Given the description of an element on the screen output the (x, y) to click on. 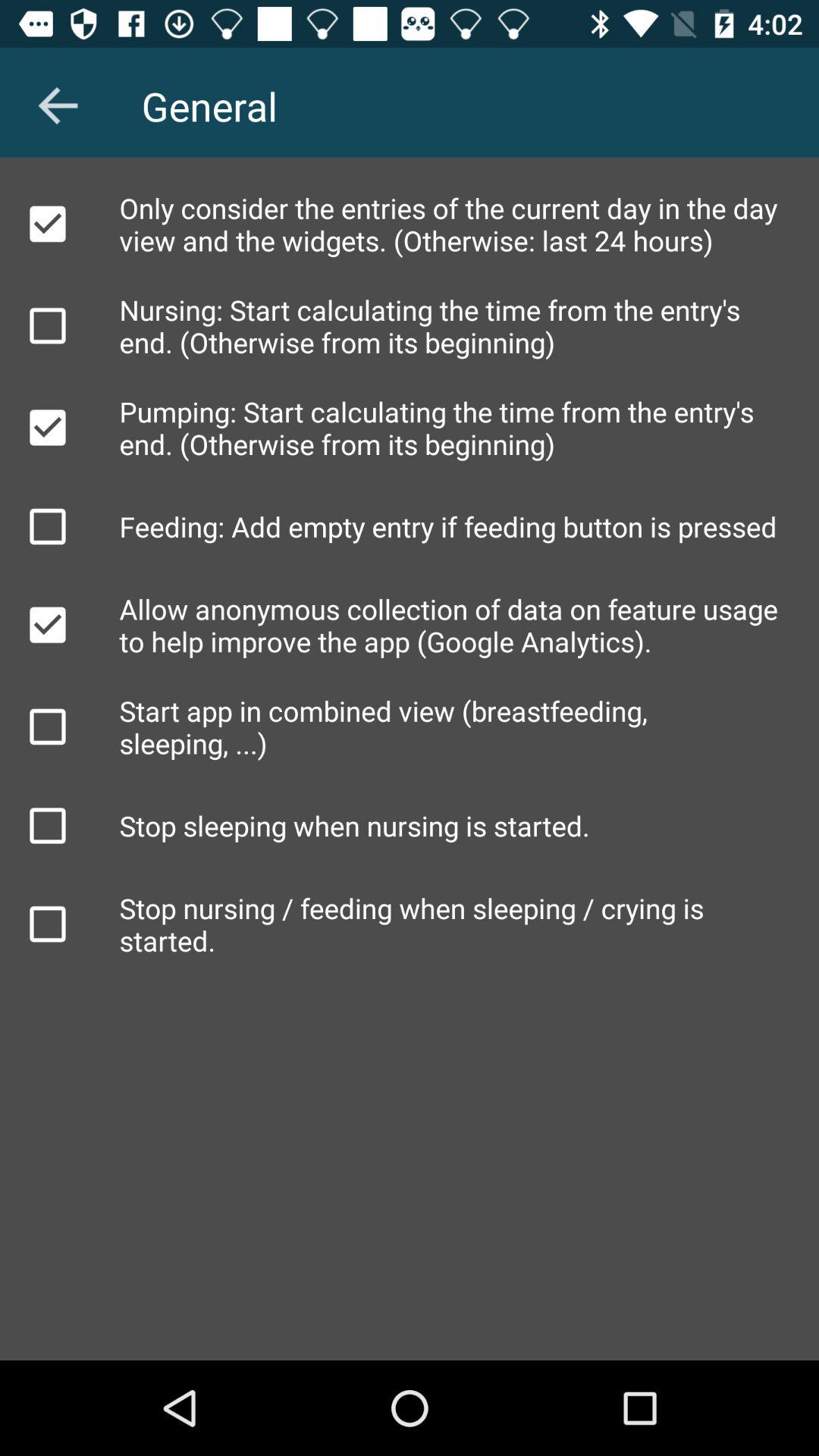
select this field (47, 223)
